Given the description of an element on the screen output the (x, y) to click on. 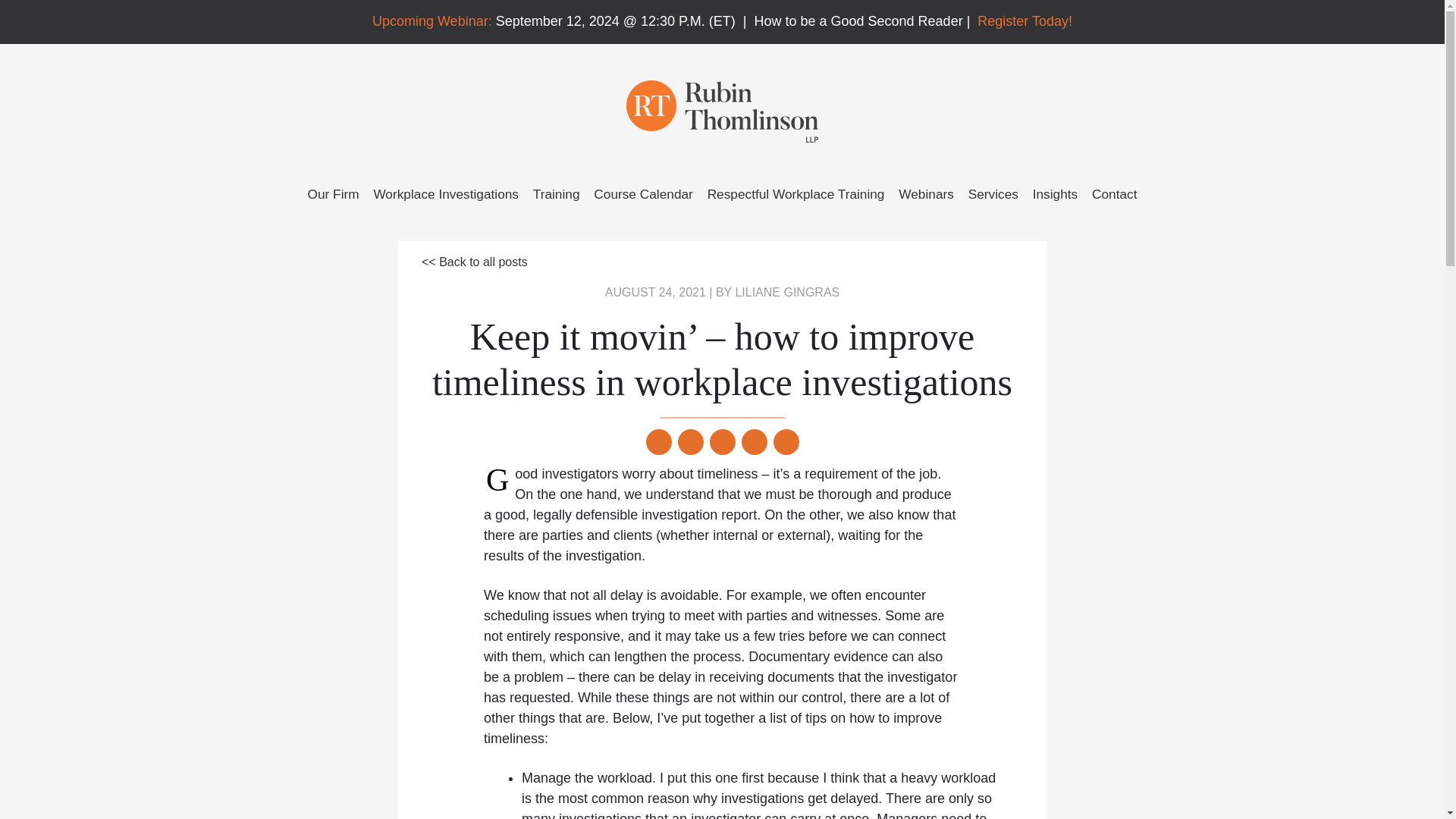
Workplace Investigations (445, 194)
Facebook (722, 446)
Services (993, 194)
Print (786, 446)
Workplace Investigations (445, 194)
Twitter (659, 446)
Insights (1055, 194)
Respectful Workplace Training (796, 194)
LILIANE GINGRAS (787, 291)
Register Today! (1023, 20)
